Given the description of an element on the screen output the (x, y) to click on. 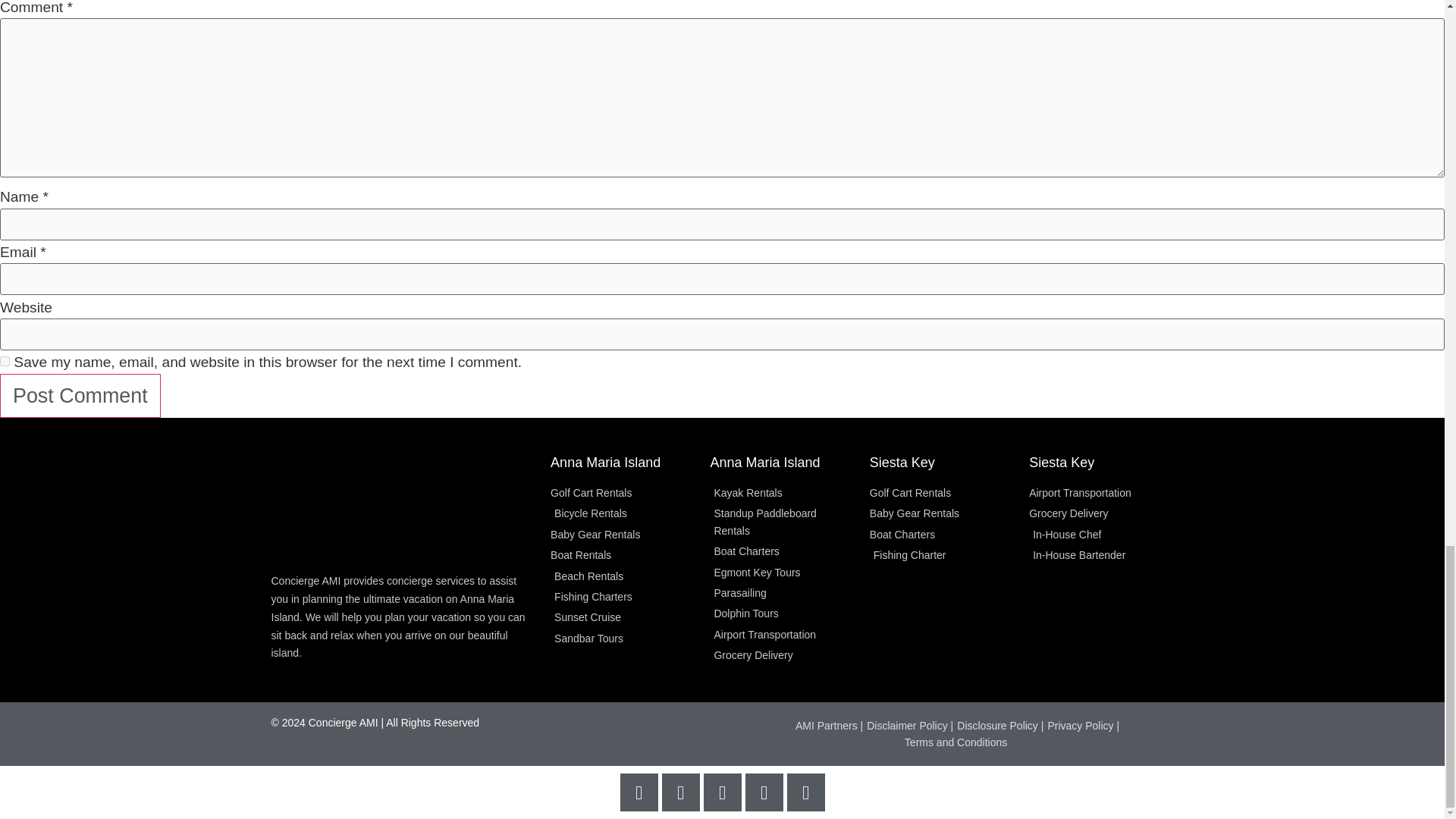
Boat Rentals (622, 555)
Bicycle Rentals (622, 513)
Beach Rentals (622, 576)
Anna Maria Island (605, 462)
Fishing Charters (622, 596)
Baby Gear Rentals (622, 534)
Post Comment (80, 395)
Golf Cart Rentals (622, 492)
yes (5, 361)
Post Comment (80, 395)
